Given the description of an element on the screen output the (x, y) to click on. 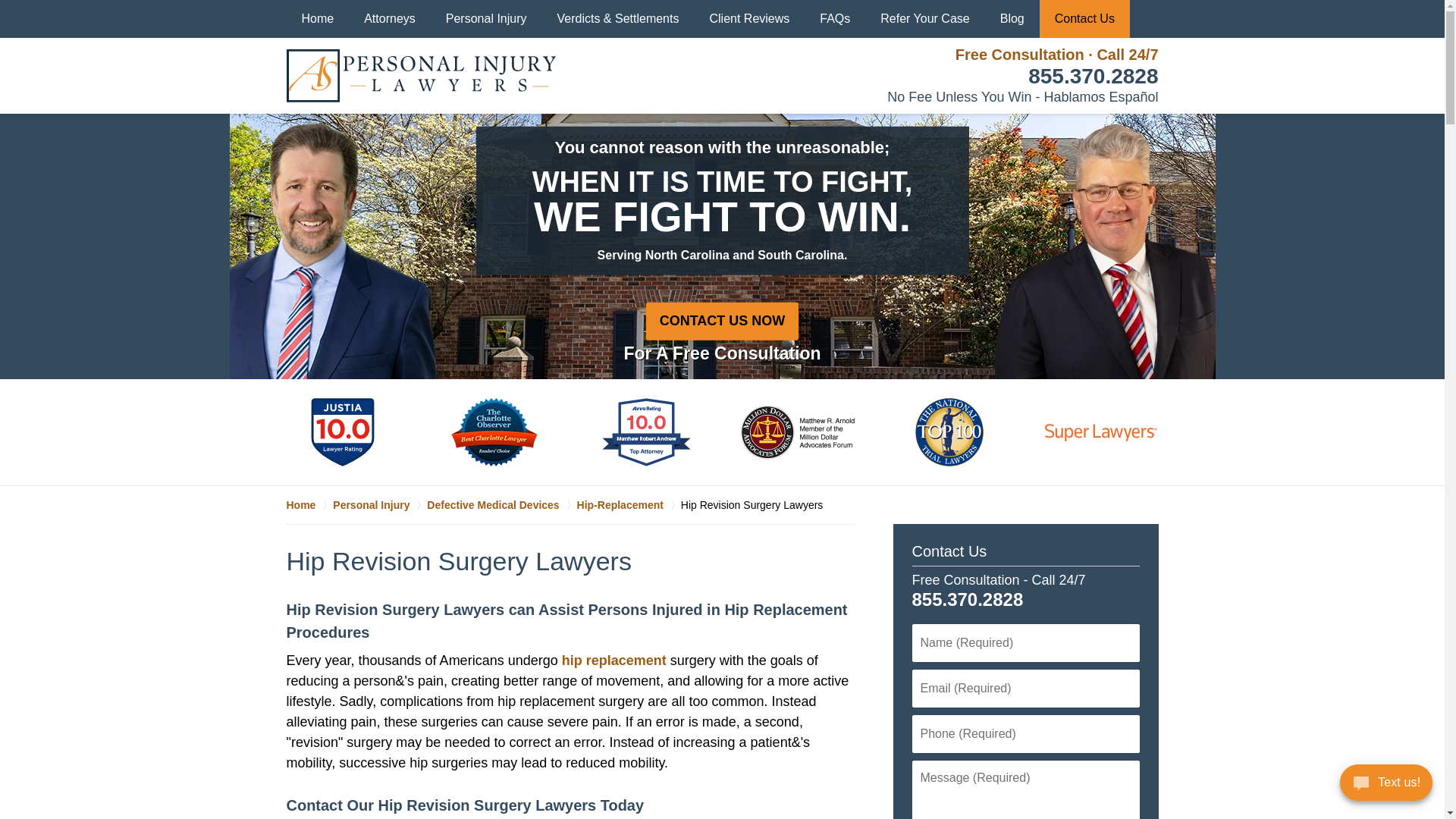
CONTACT US NOW (722, 320)
hip replacement (614, 660)
Attorneys (389, 18)
Personal Injury (485, 18)
Contact Us (1084, 18)
Contact Us (949, 550)
Personal Injury (379, 505)
Blog (1012, 18)
Home (317, 18)
Refer Your Case (924, 18)
Back to Home (421, 75)
Client Reviews (749, 18)
Defective Medical Devices (501, 505)
FAQs (834, 18)
Home (309, 505)
